Given the description of an element on the screen output the (x, y) to click on. 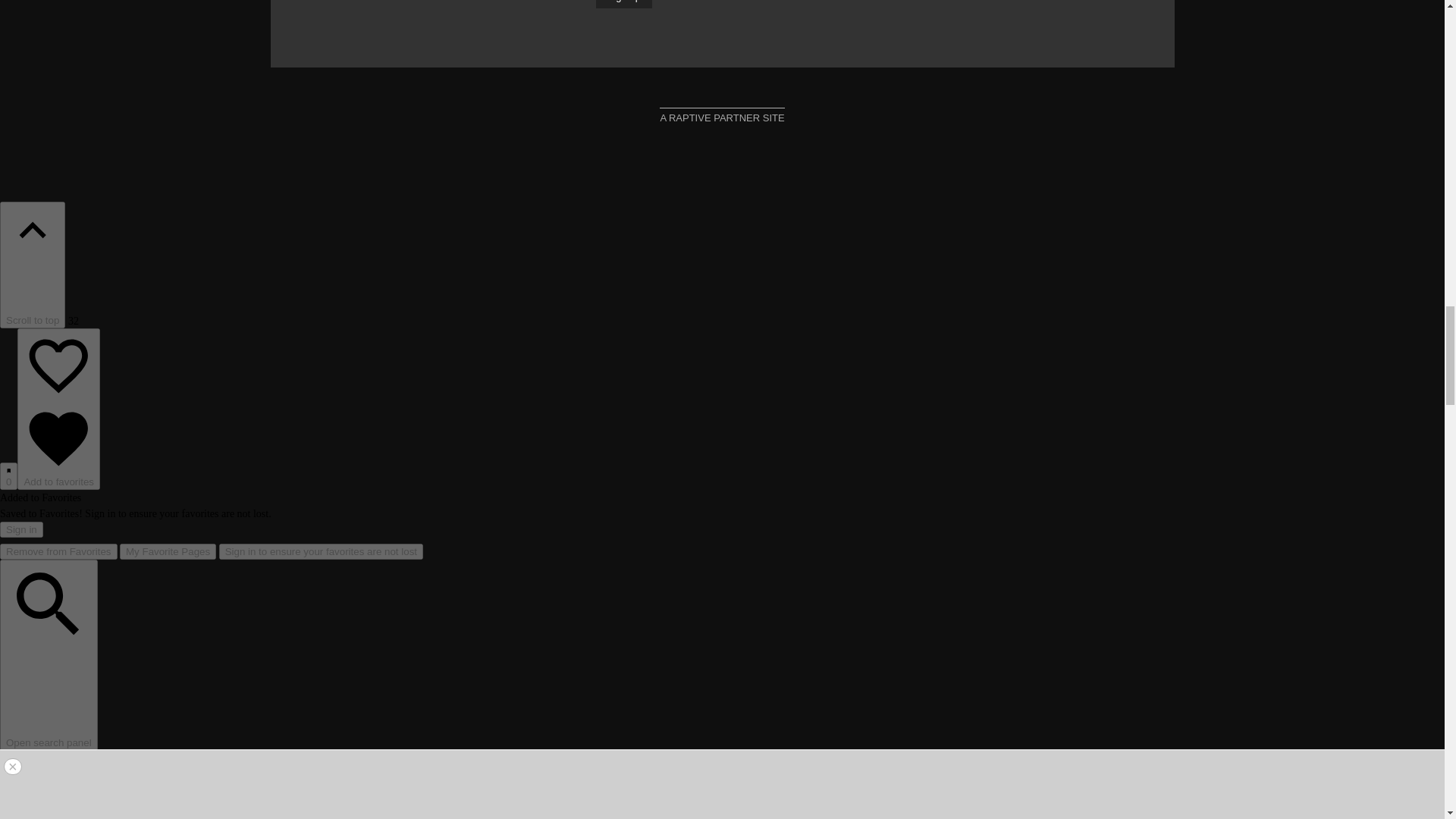
Sign up (623, 4)
